Given the description of an element on the screen output the (x, y) to click on. 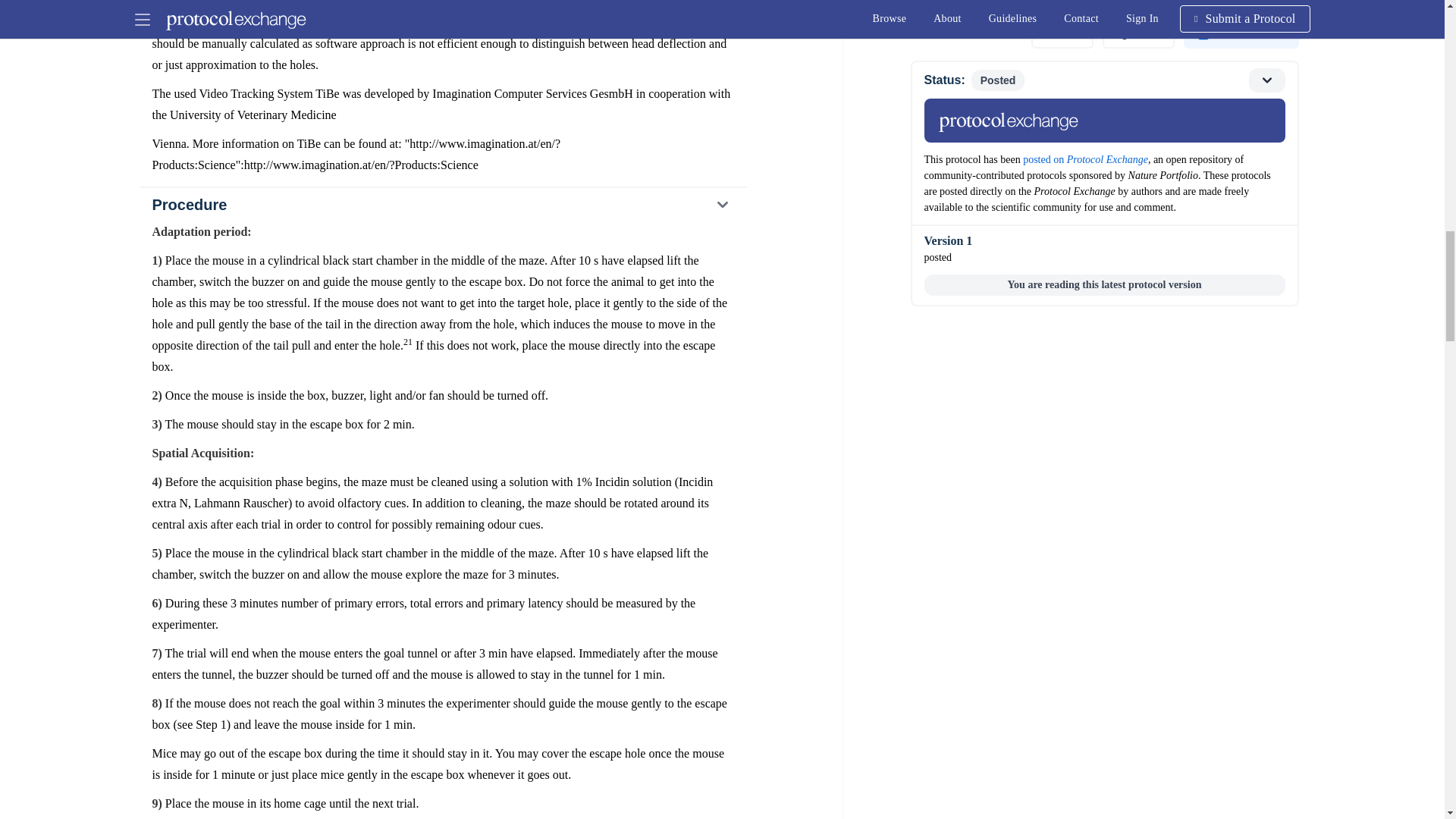
Procedure (442, 204)
